Given the description of an element on the screen output the (x, y) to click on. 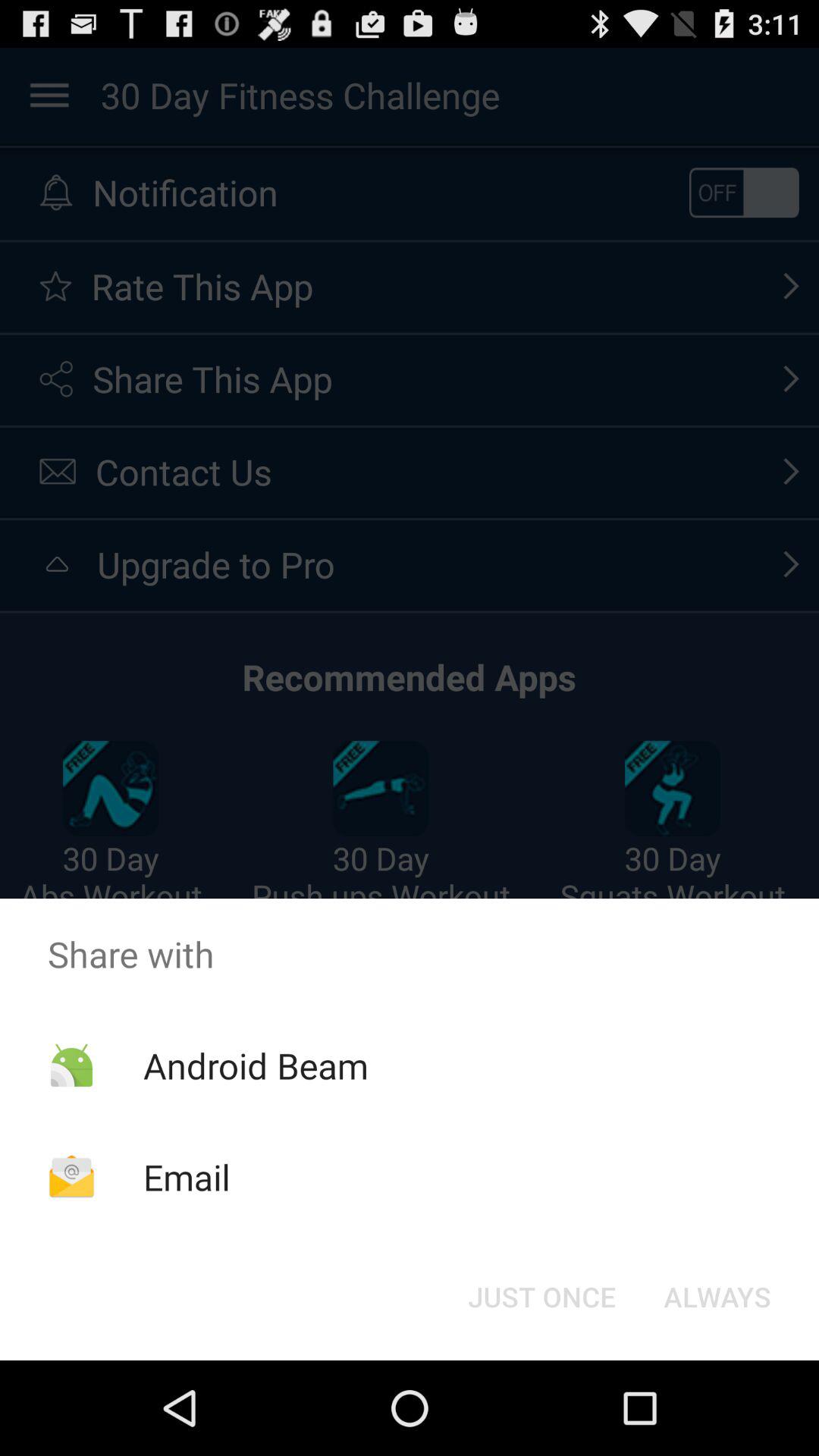
turn on the button next to the just once icon (717, 1296)
